Given the description of an element on the screen output the (x, y) to click on. 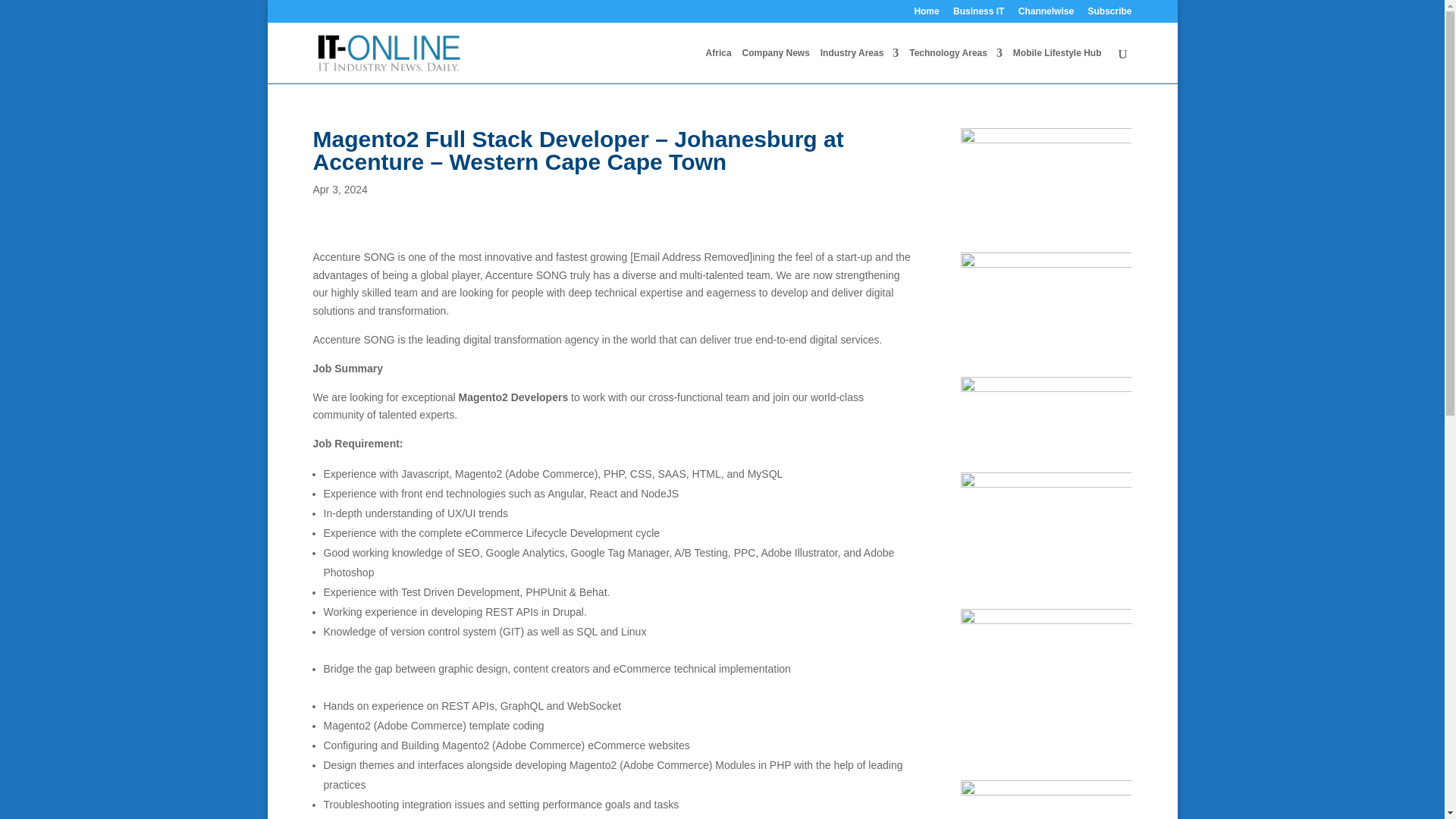
Business IT (978, 14)
Industry Areas (860, 65)
Subscribe (1109, 14)
Home (926, 14)
Channelwise (1045, 14)
Technology Areas (955, 65)
Company News (775, 65)
